Given the description of an element on the screen output the (x, y) to click on. 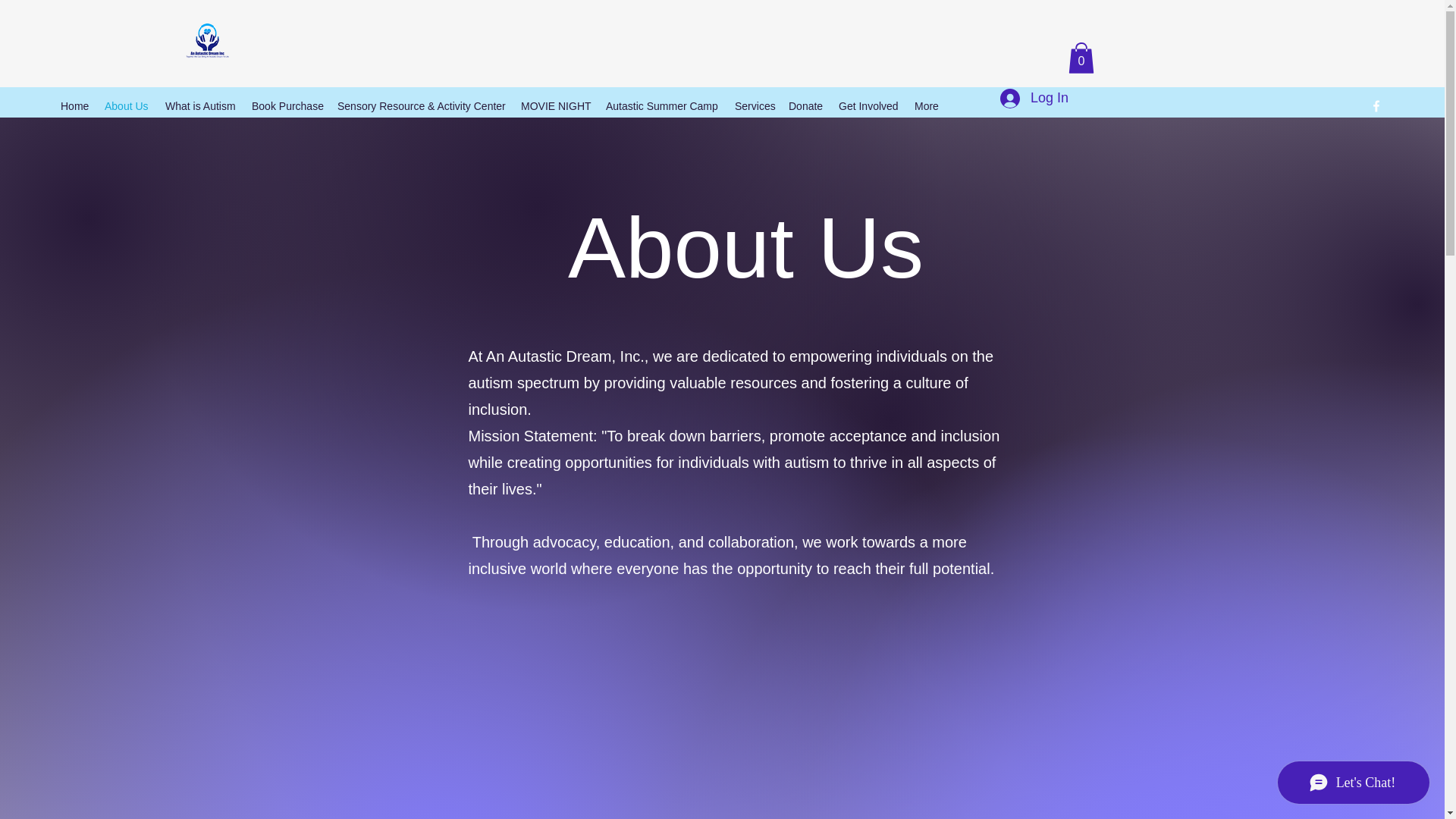
Log In (1034, 98)
About Us (127, 106)
Donate (805, 106)
Autastic Summer Camp (662, 106)
Services (753, 106)
MOVIE NIGHT (555, 106)
Get Involved (869, 106)
Book Purchase (287, 106)
What is Autism (200, 106)
Home (74, 106)
